Given the description of an element on the screen output the (x, y) to click on. 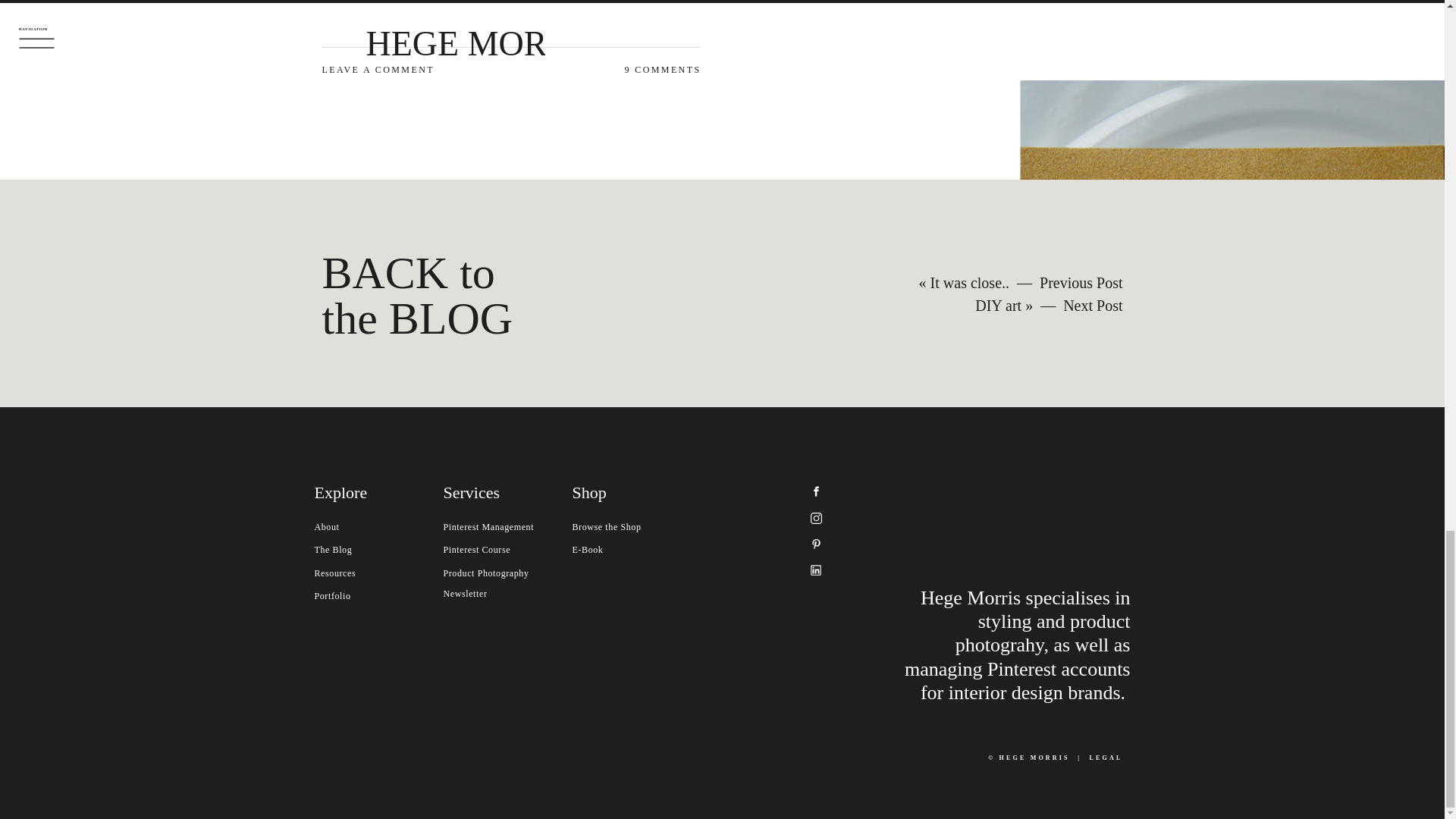
LEGAL (428, 293)
It was close.. (1105, 757)
DIY art (969, 282)
